Given the description of an element on the screen output the (x, y) to click on. 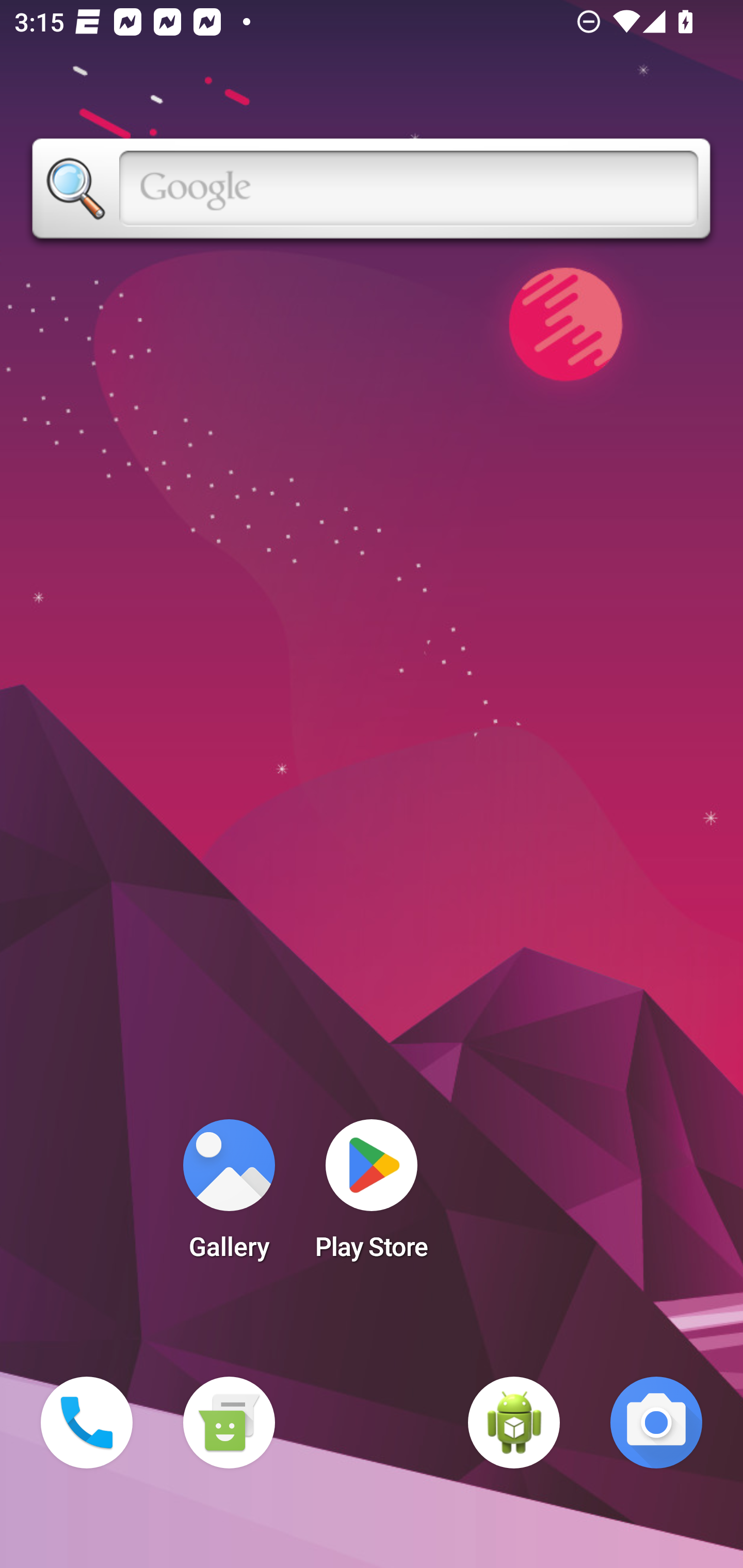
Gallery (228, 1195)
Play Store (371, 1195)
Phone (86, 1422)
Messaging (228, 1422)
WebView Browser Tester (513, 1422)
Camera (656, 1422)
